Given the description of an element on the screen output the (x, y) to click on. 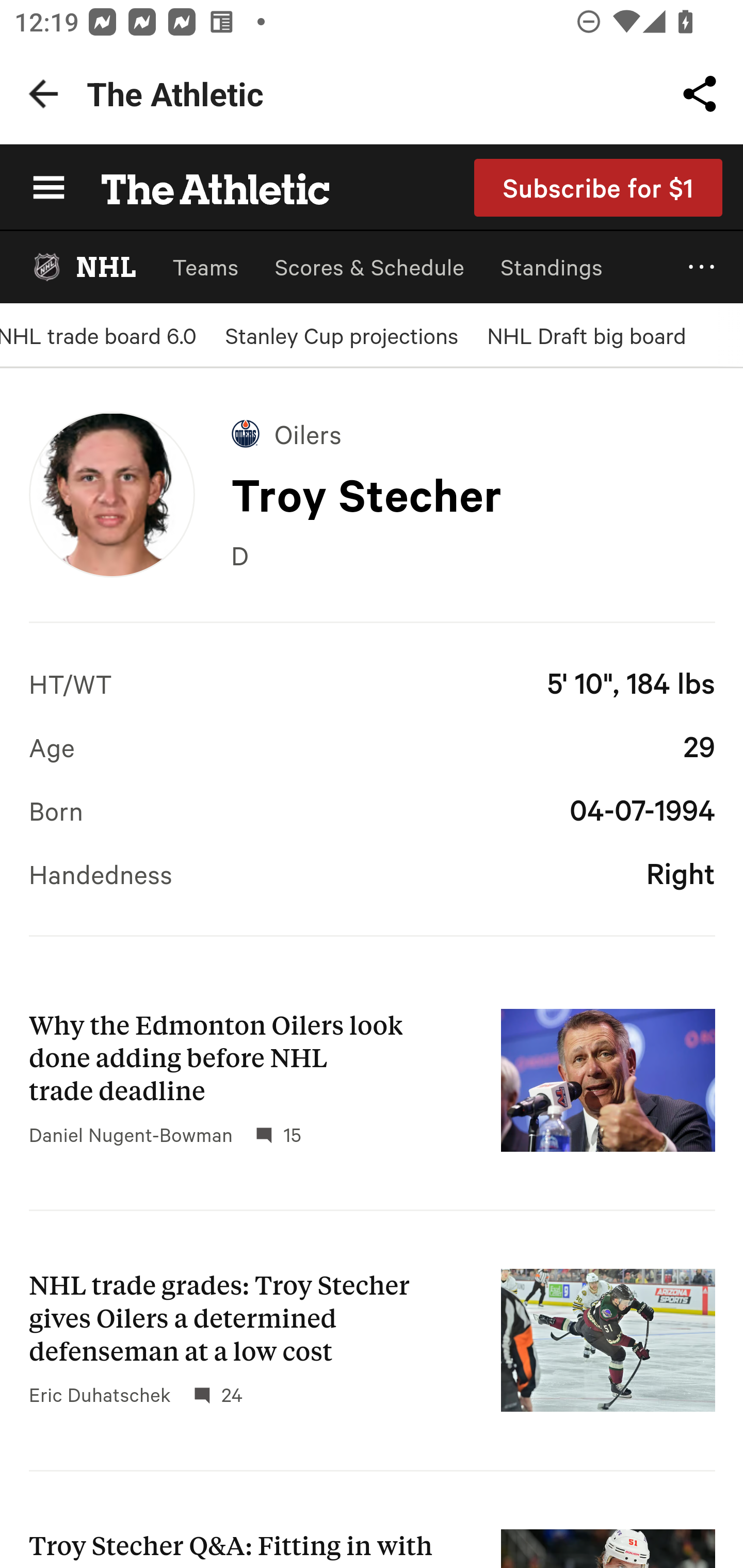
The Athletic (204, 187)
Subscribe for $1 (598, 187)
NHL NHL NHL NHL (82, 267)
Teams (205, 267)
Scores & Schedule (369, 267)
Standings (552, 267)
• • • (701, 267)
NHL trade board 6.0 (98, 335)
Stanley Cup projections (341, 335)
NHL Draft big board (586, 335)
T. Stecher (111, 494)
Oilers logo Oilers Oilers logo Oilers (287, 433)
Live News (371, 663)
Premier League (371, 743)
Champions League (371, 821)
Euro 2024 (371, 901)
